Given the description of an element on the screen output the (x, y) to click on. 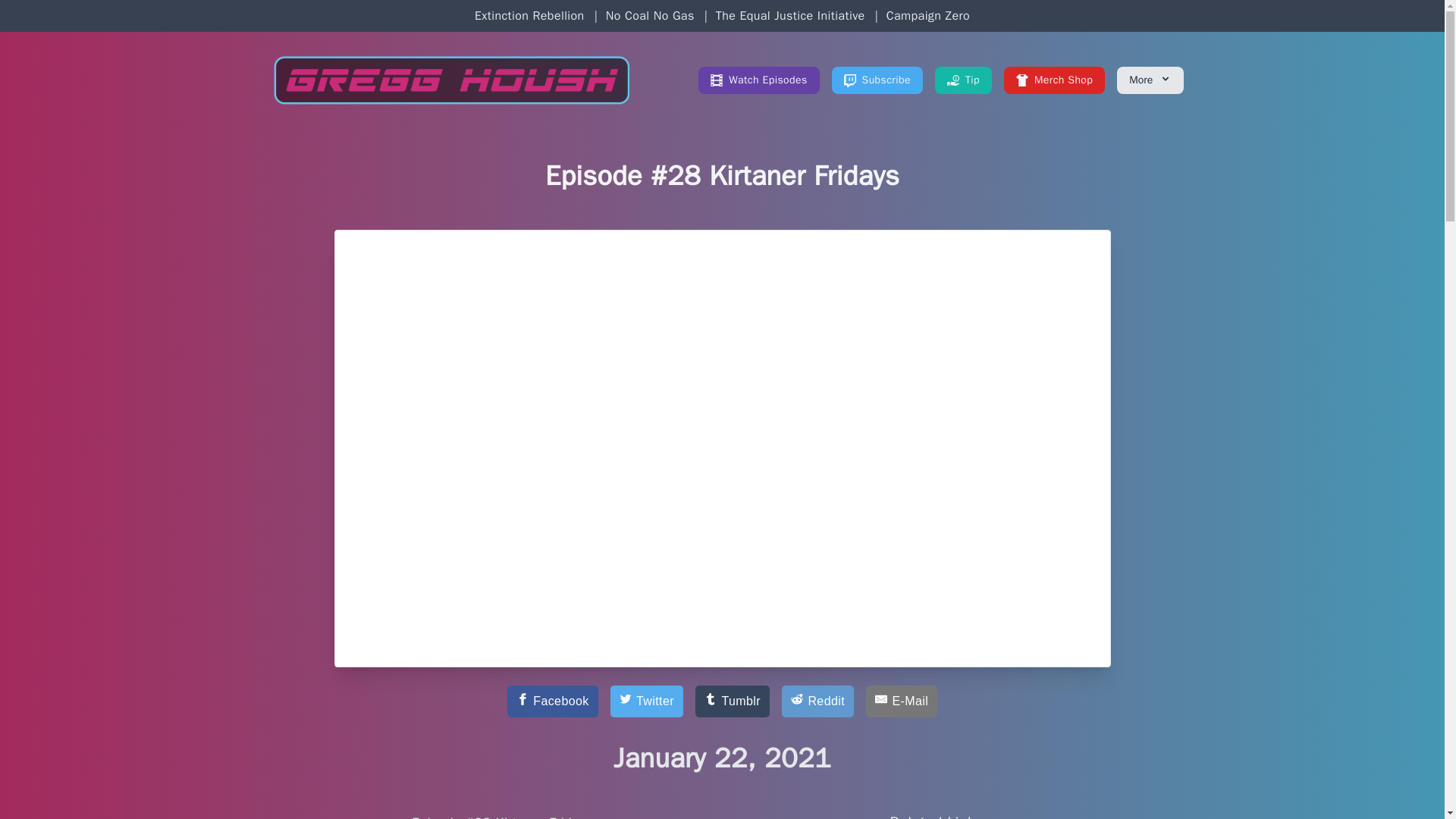
E-Mail (901, 701)
Campaign Zero (927, 15)
Subscribe (877, 80)
Extinction Rebellion (529, 15)
No Coal No Gas (649, 15)
Tumblr (732, 701)
Facebook (552, 701)
The Equal Justice Initiative (790, 15)
Watch Episodes (758, 80)
Twitter (646, 701)
Reddit (817, 701)
Tip (962, 80)
More (1149, 80)
Merch Shop (1054, 80)
